Given the description of an element on the screen output the (x, y) to click on. 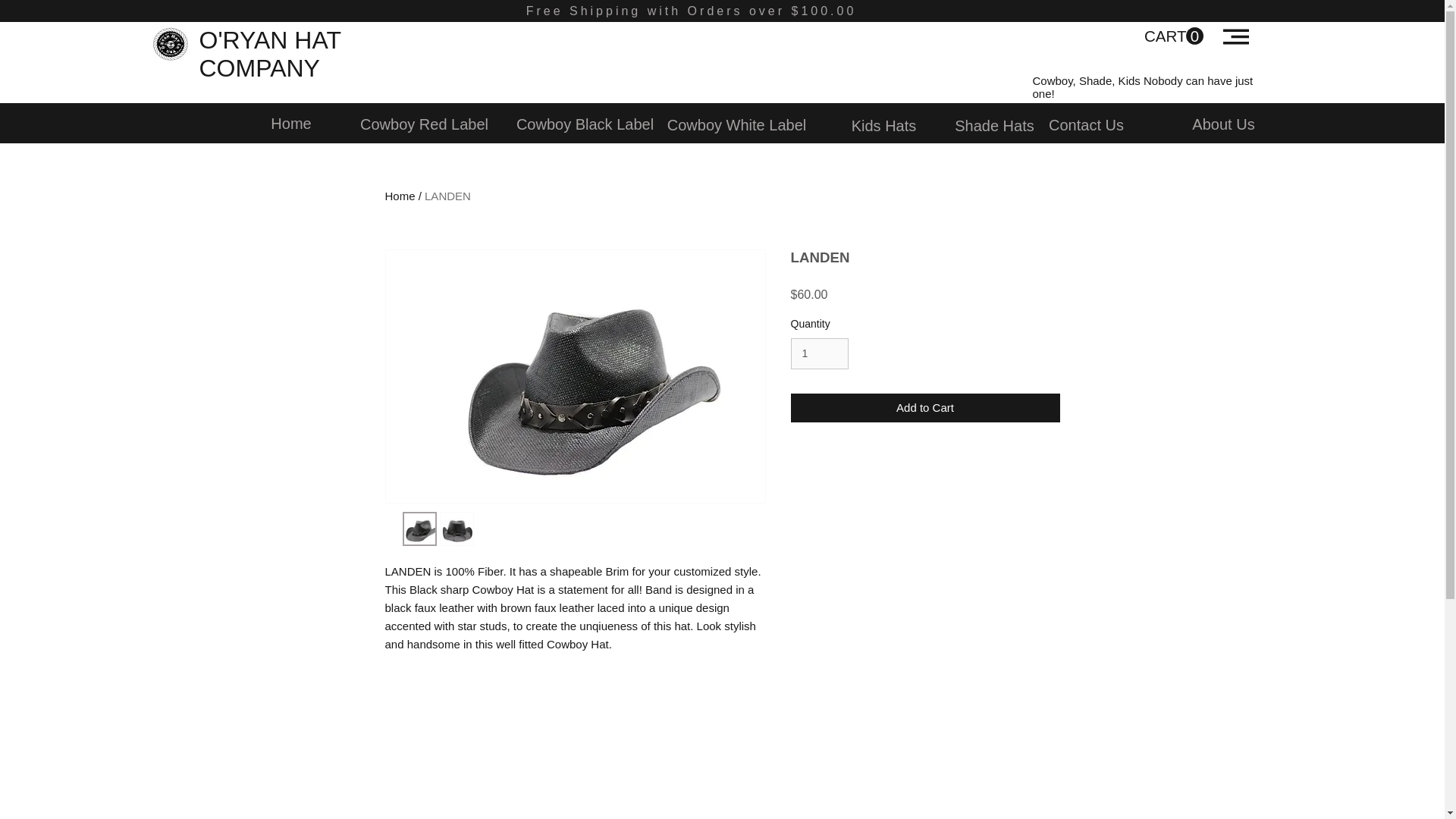
Contact Us (1086, 124)
Cowboy White Label (735, 124)
Cowboy Black Label (584, 123)
1 (818, 353)
Add to Cart (924, 408)
Kids Hats (884, 125)
Home (291, 122)
Shade Hats (994, 125)
About Us (1223, 123)
Home (399, 195)
LANDEN (1172, 36)
Cowboy Red Label (447, 195)
